Given the description of an element on the screen output the (x, y) to click on. 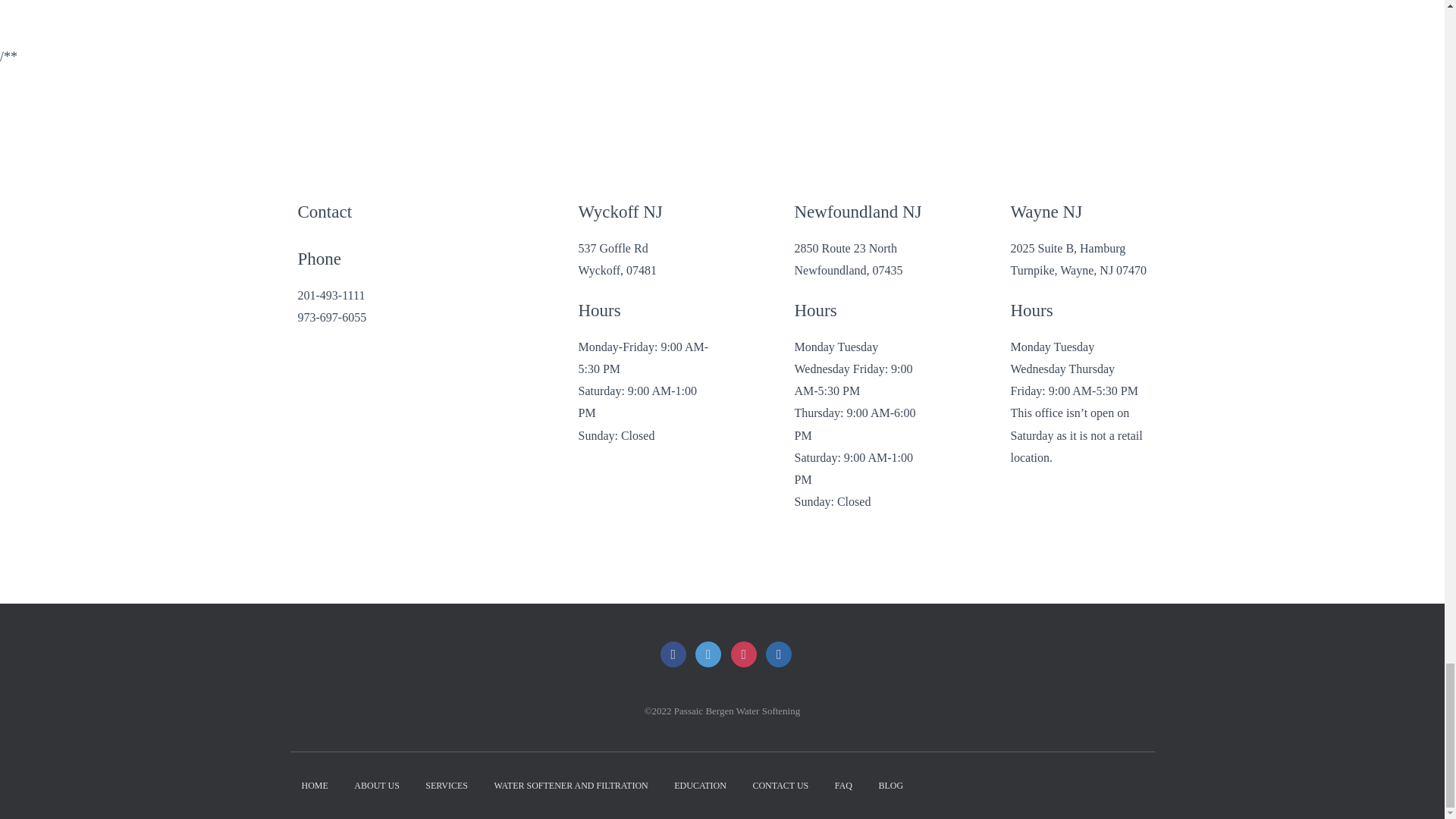
HOME (314, 785)
ABOUT US (376, 785)
WATER SOFTENER AND FILTRATION (571, 785)
EDUCATION (700, 785)
SERVICES (446, 785)
